Given the description of an element on the screen output the (x, y) to click on. 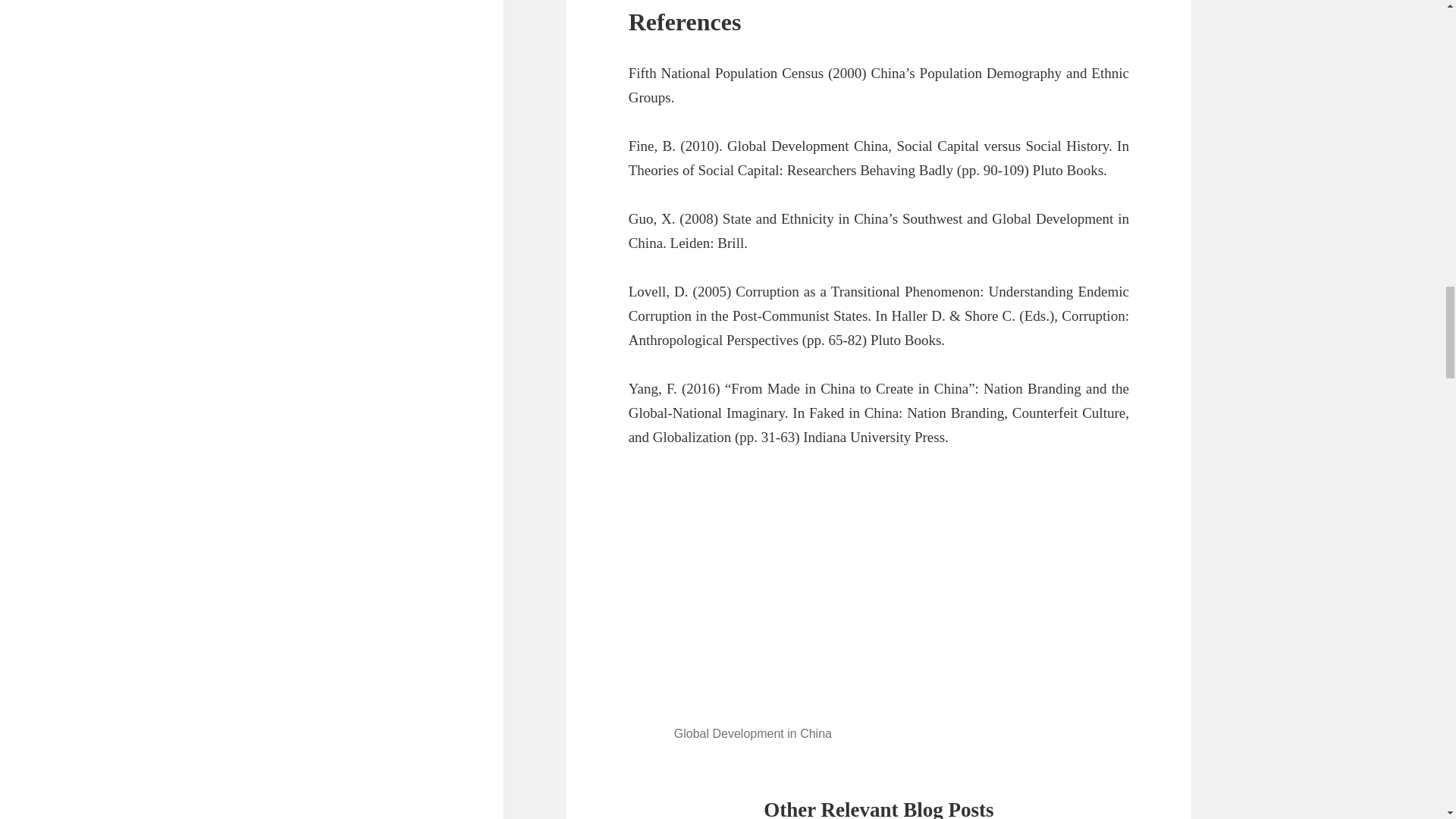
Global Development in China (878, 596)
